Given the description of an element on the screen output the (x, y) to click on. 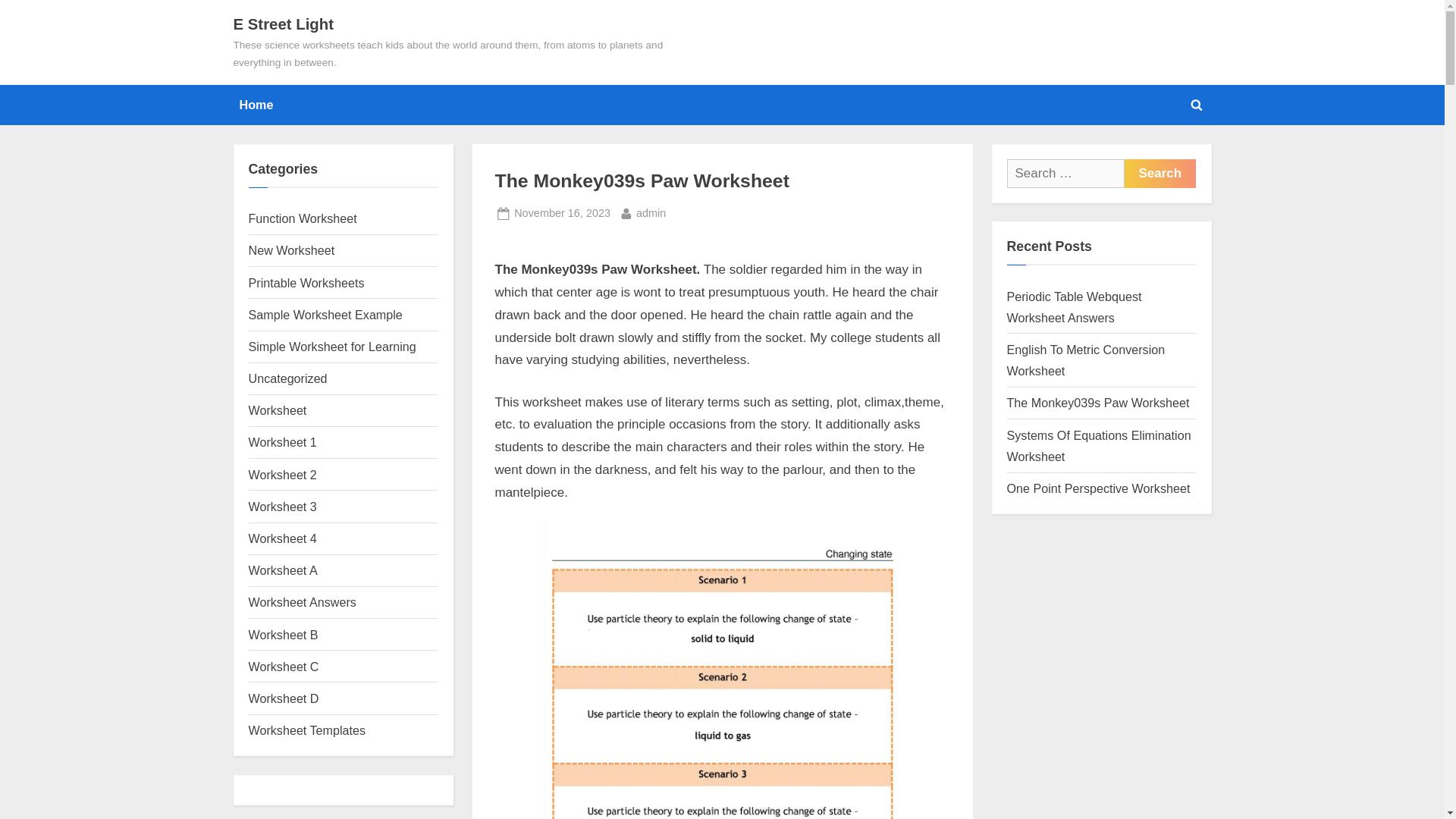
Worksheet 4 (282, 538)
Worksheet 3 (282, 506)
Worksheet 2 (282, 474)
Function Worksheet (302, 218)
Printable Worksheets (561, 212)
Search (306, 282)
Worksheet 1 (1159, 173)
Worksheet B (282, 441)
Worksheet Answers (283, 634)
Worksheet A (302, 602)
Sample Worksheet Example (282, 570)
Worksheet (325, 314)
Home (650, 212)
